Given the description of an element on the screen output the (x, y) to click on. 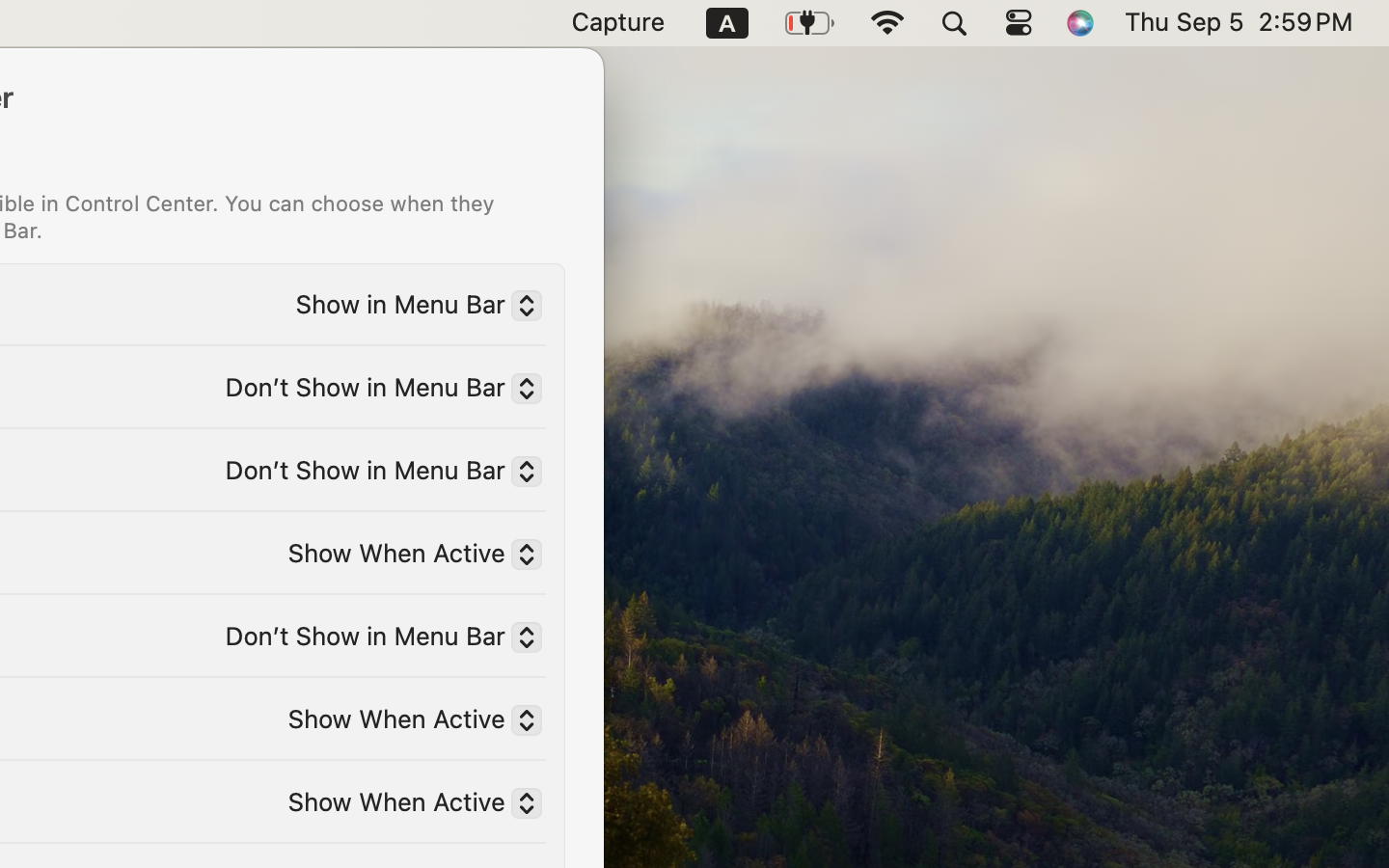
Show When Active Element type: AXPopUpButton (406, 805)
Don’t Show in Menu Bar Element type: AXPopUpButton (374, 473)
Show in Menu Bar Element type: AXPopUpButton (410, 307)
